Given the description of an element on the screen output the (x, y) to click on. 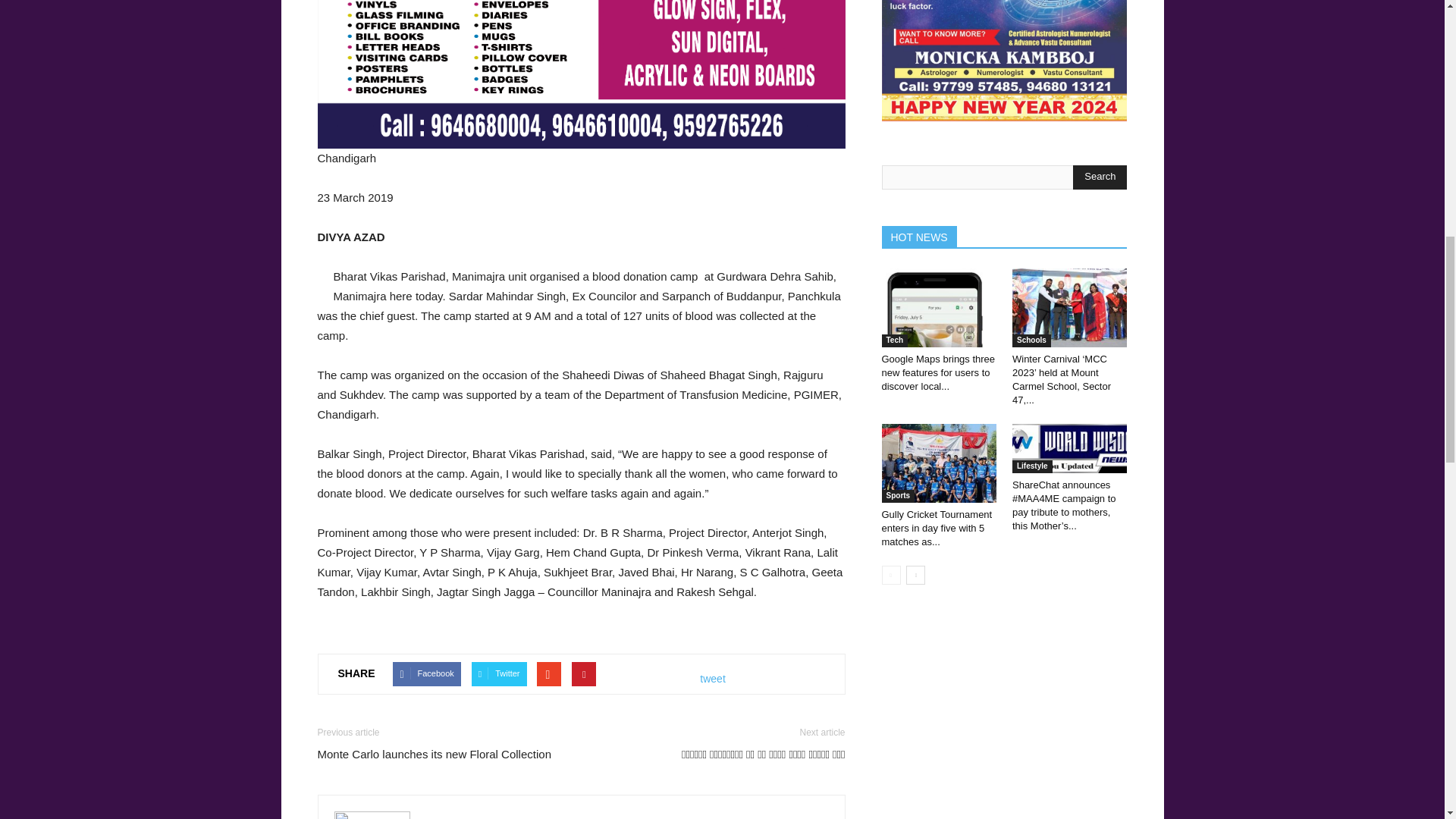
Search (1099, 177)
